Given the description of an element on the screen output the (x, y) to click on. 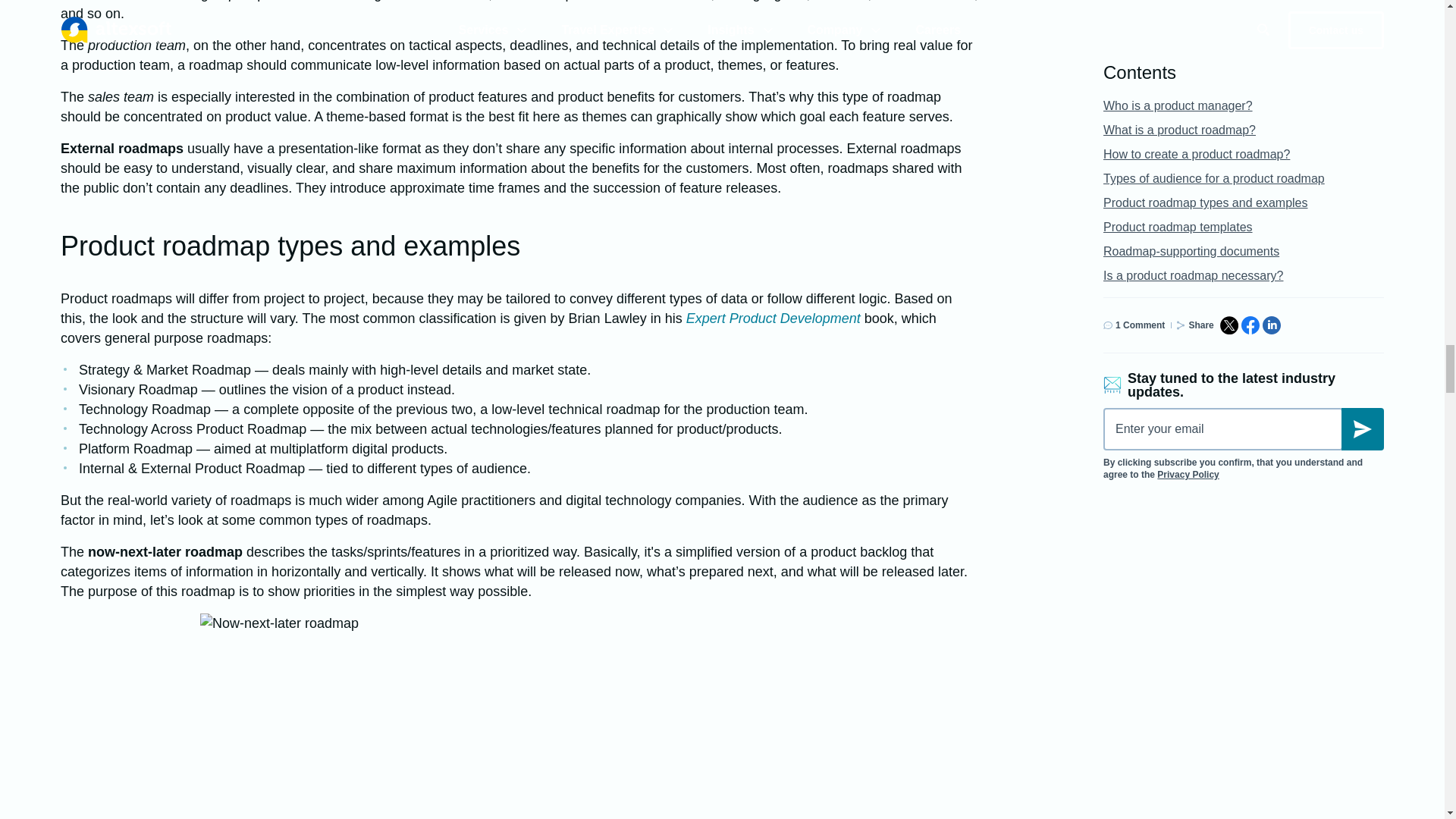
Expert Product Development (772, 318)
